Given the description of an element on the screen output the (x, y) to click on. 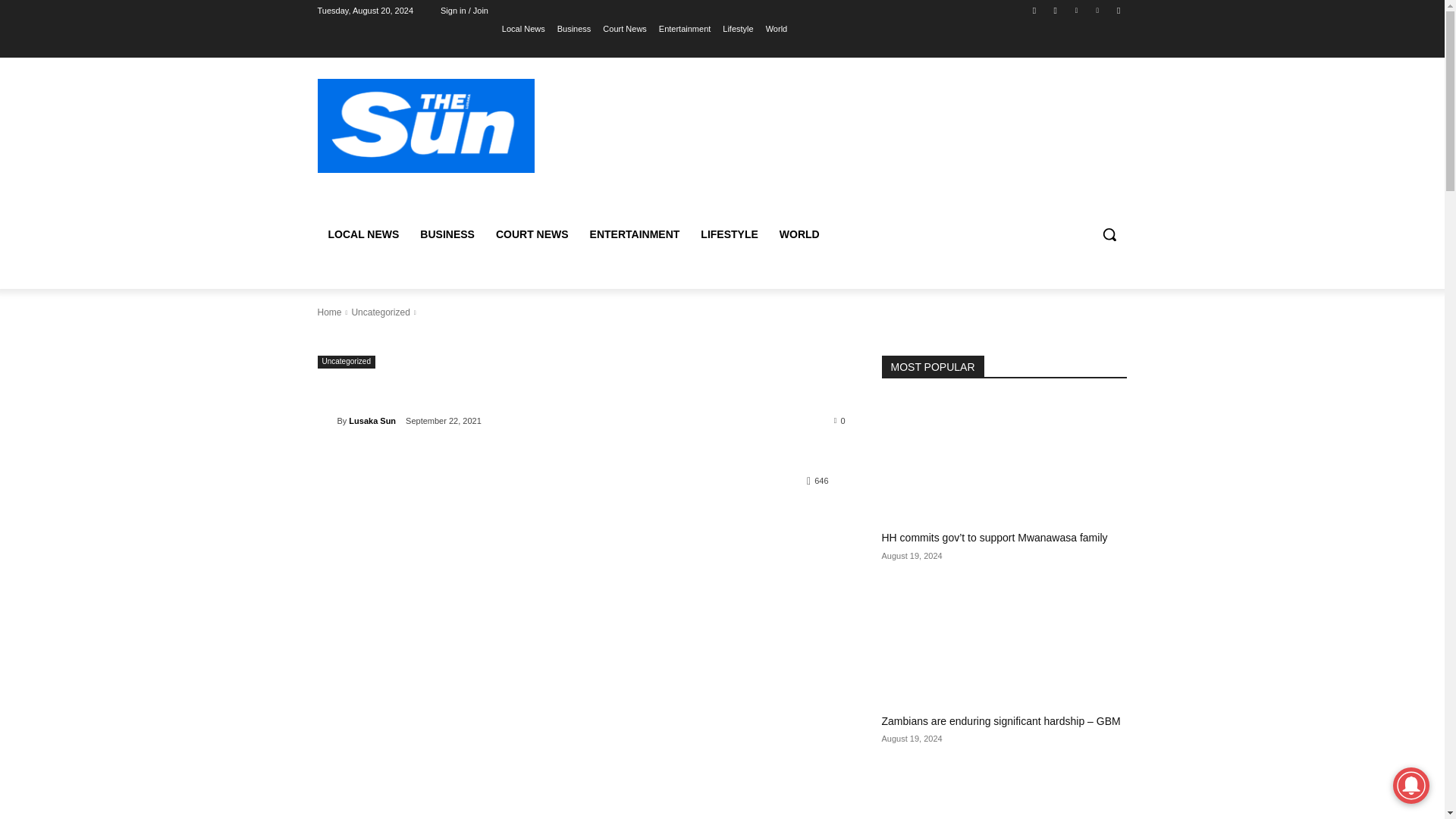
ENTERTAINMENT (634, 234)
Lusaka Sun (326, 420)
Entertainment (684, 28)
Vimeo (1097, 9)
WORLD (798, 234)
Lifestyle (737, 28)
LIFESTYLE (729, 234)
Uncategorized (345, 361)
BUSINESS (446, 234)
Home (328, 312)
